Given the description of an element on the screen output the (x, y) to click on. 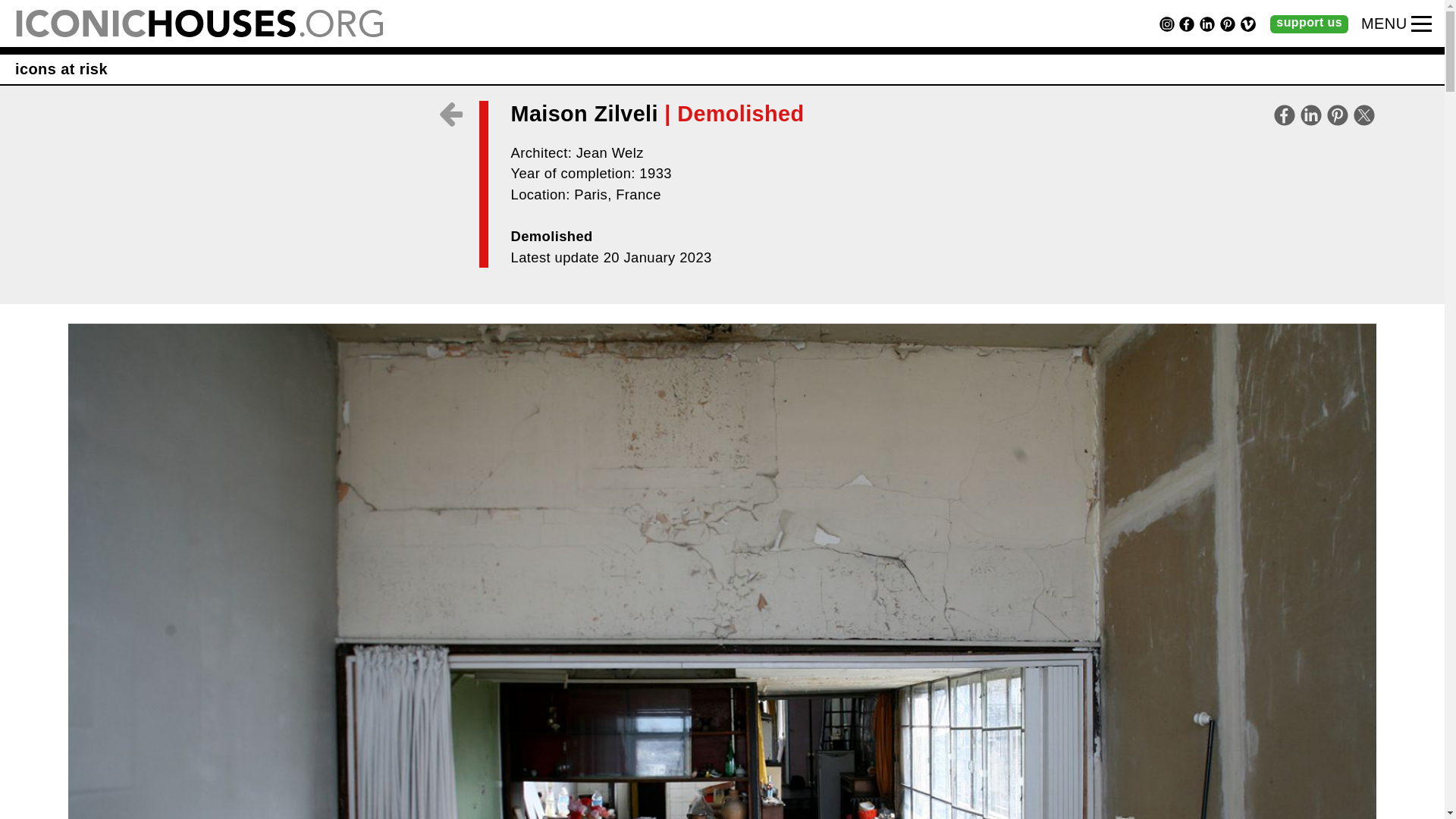
share on linkedin (1311, 115)
support us (1308, 24)
share on pinterest (1337, 115)
share on facebook (1284, 115)
MENU (1384, 23)
icons at risk (60, 68)
share on X (1364, 115)
